Given the description of an element on the screen output the (x, y) to click on. 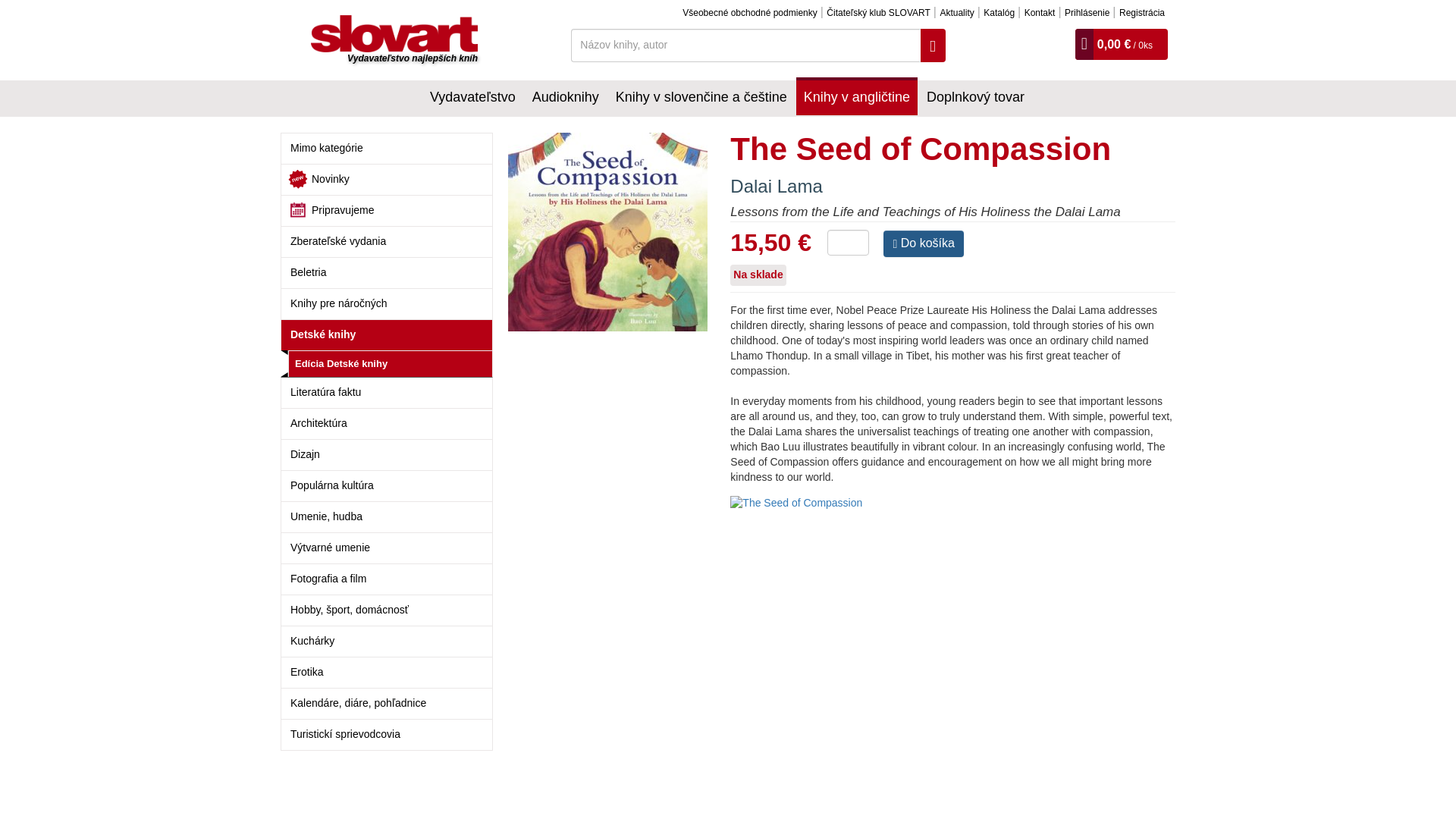
Pripravujeme (387, 210)
Dalai Lama (776, 186)
Audioknihy (565, 95)
Beletria (387, 272)
Novinky (387, 178)
Dizajn (387, 454)
Fotografia a film (387, 578)
The Seed of Compassion (619, 231)
Aktuality (956, 12)
Umenie, hudba (387, 516)
